Given the description of an element on the screen output the (x, y) to click on. 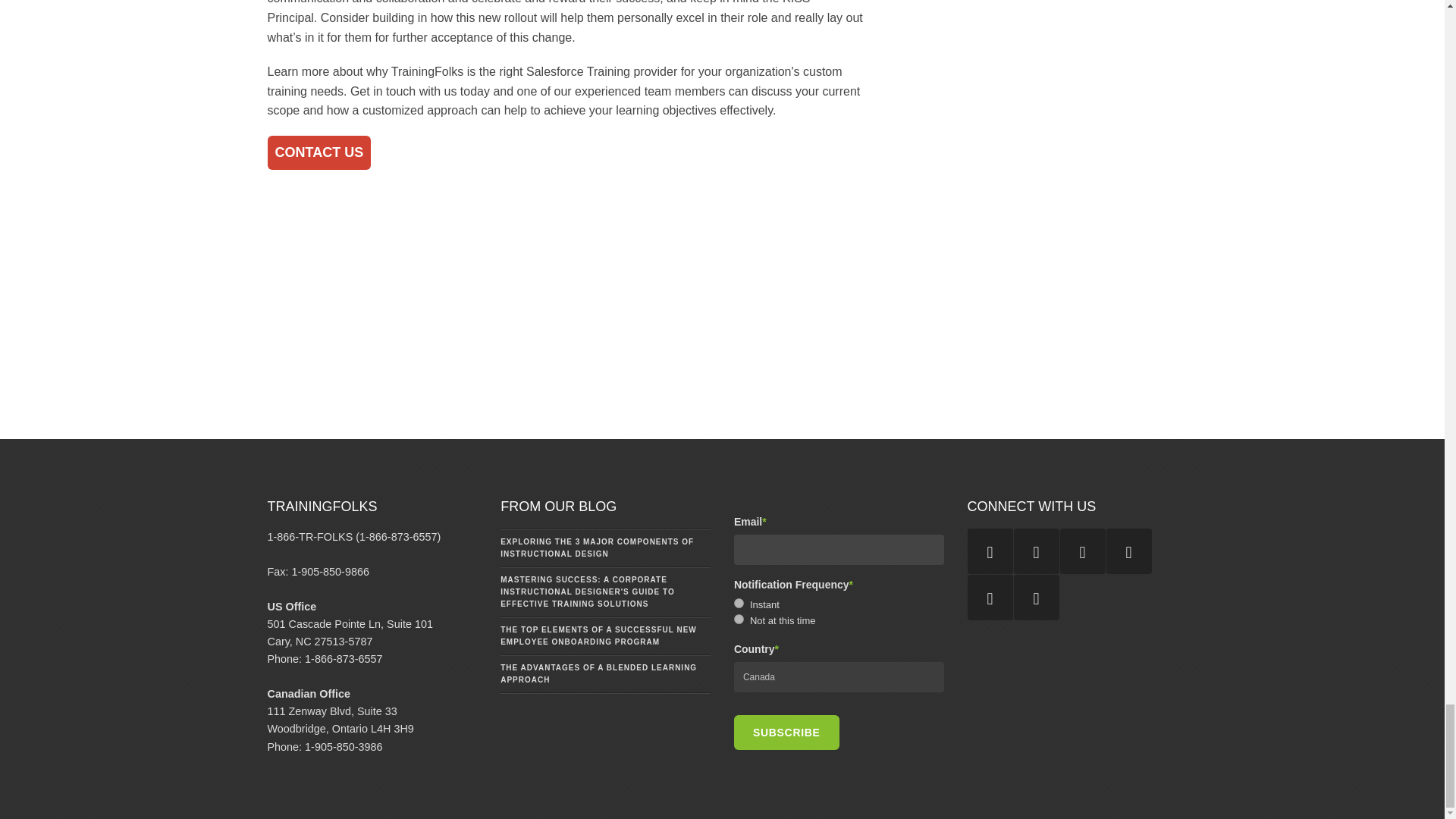
CONTACT US (318, 152)
Subscribe (786, 732)
instant (738, 603)
Follow us on YouTube (990, 551)
Follow us on Linkedin (990, 596)
Follow us on Twitter (1036, 596)
Follow us on Facebook (1082, 551)
Follow us on Instagram (1128, 551)
Not at this time (738, 619)
